Given the description of an element on the screen output the (x, y) to click on. 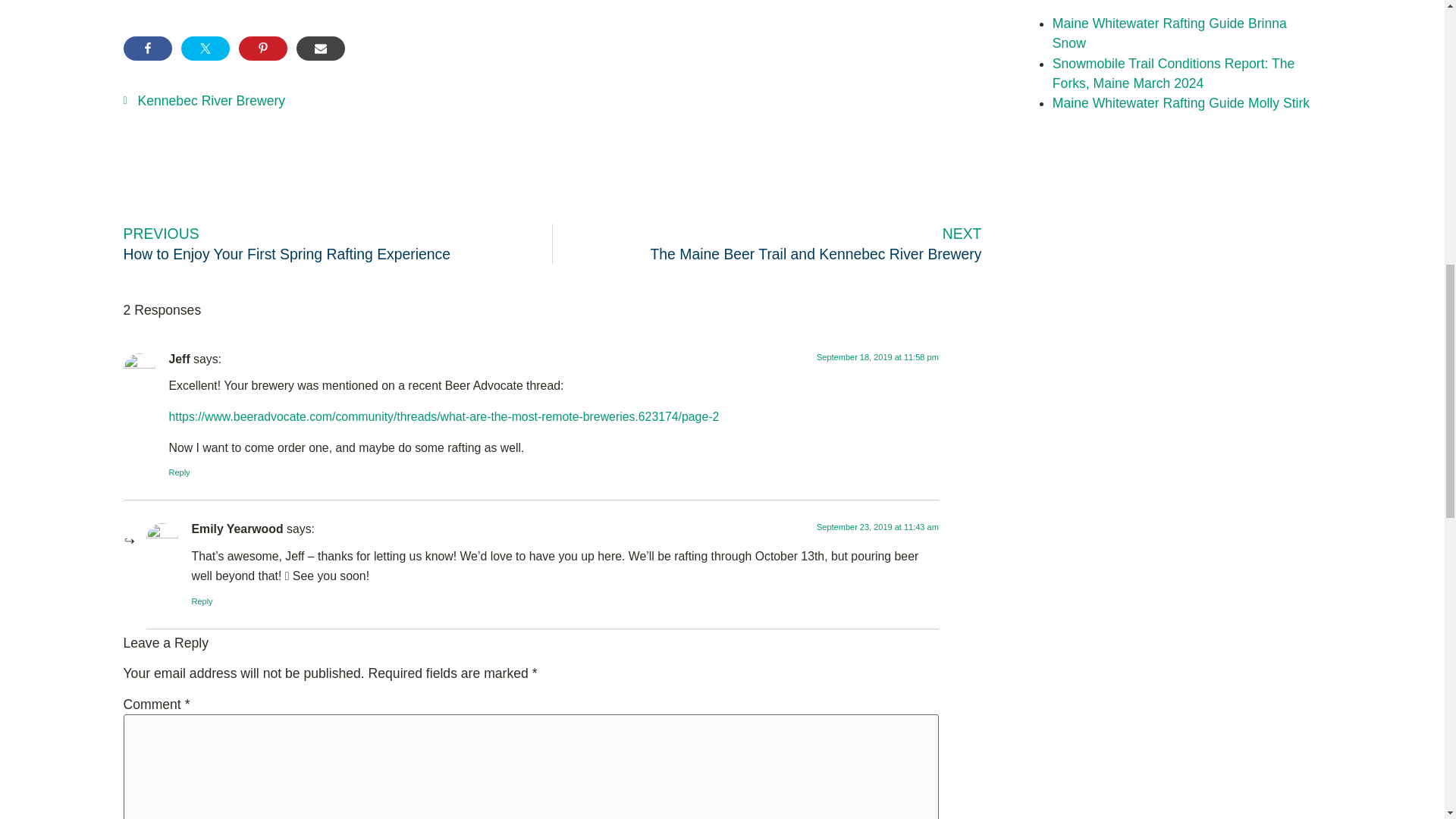
Share on Facebook (146, 48)
Share on Twitter (204, 48)
Share via Email (319, 48)
Share on Pinterest (262, 48)
